Given the description of an element on the screen output the (x, y) to click on. 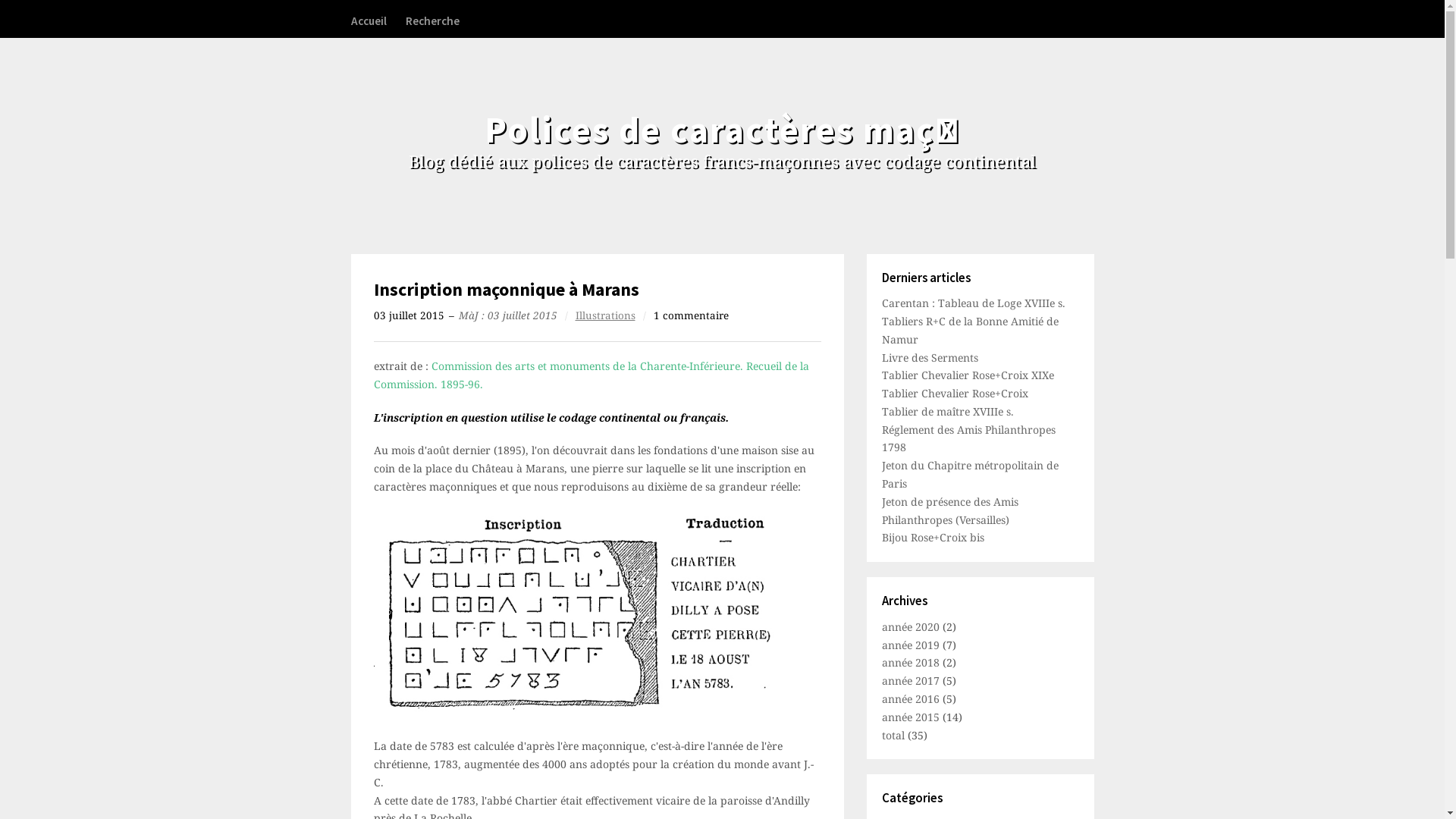
Carentan : Tableau de Loge XVIIIe s. Element type: text (972, 302)
Livre des Serments Element type: text (929, 357)
Accueil Element type: text (367, 20)
total Element type: text (893, 735)
Bijou Rose+Croix bis Element type: text (932, 537)
Tablier Chevalier Rose+Croix Element type: text (954, 392)
Recherche Element type: text (431, 20)
Illustrations Element type: text (604, 315)
Tablier Chevalier Rose+Croix XIXe Element type: text (967, 374)
